Given the description of an element on the screen output the (x, y) to click on. 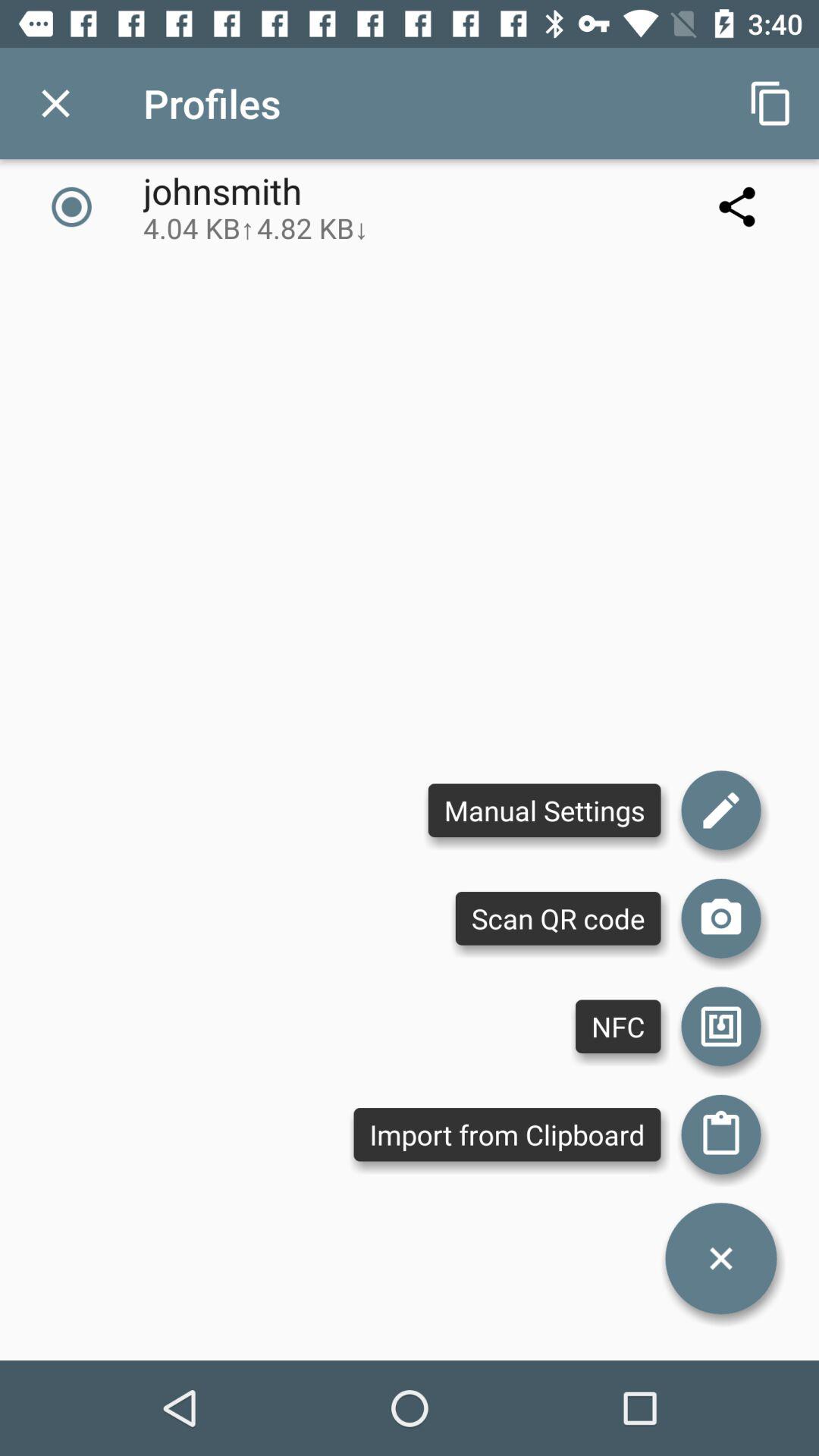
close profile (55, 103)
